Given the description of an element on the screen output the (x, y) to click on. 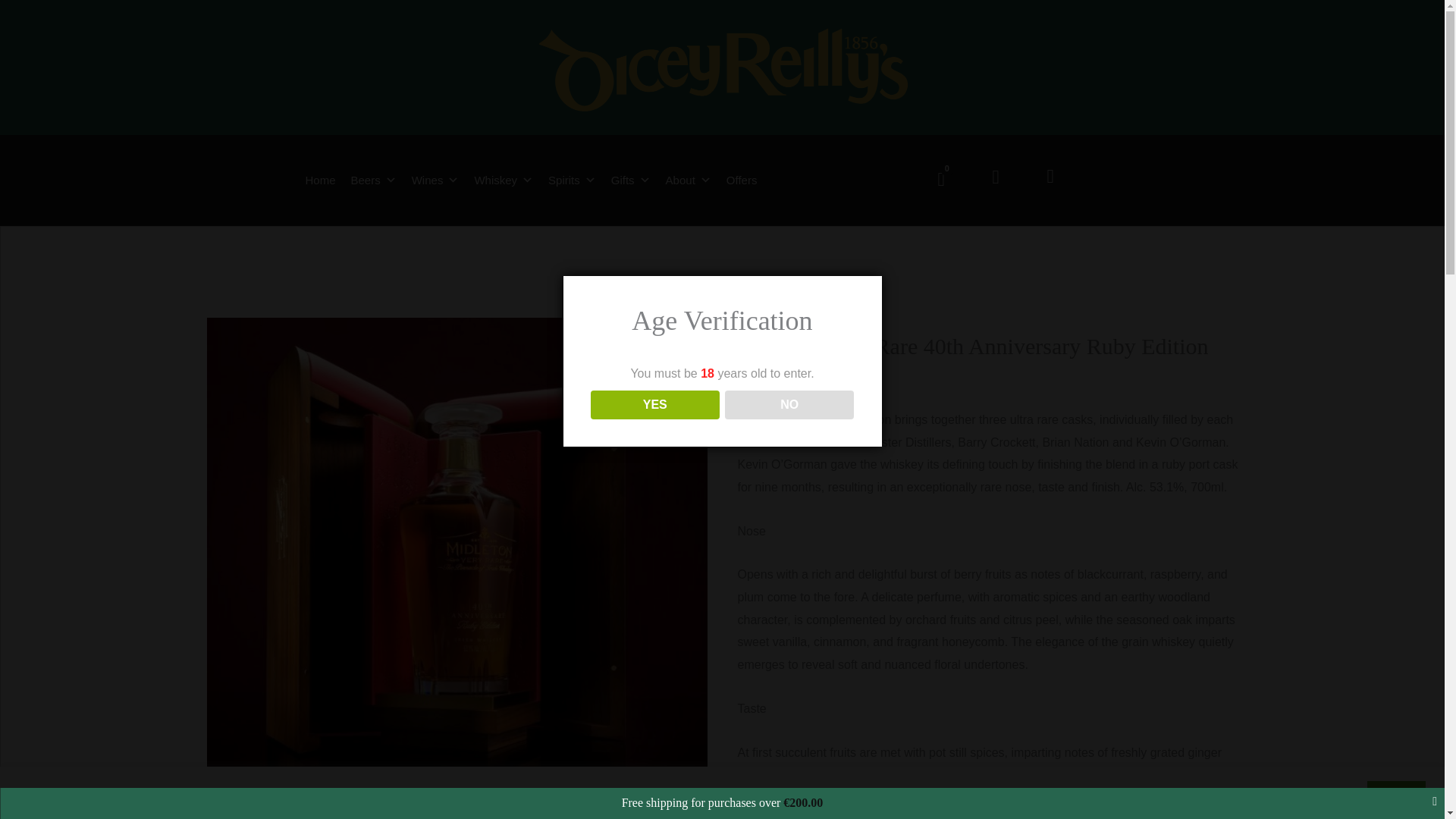
Wines (435, 180)
Home (319, 180)
Beers (373, 180)
